Given the description of an element on the screen output the (x, y) to click on. 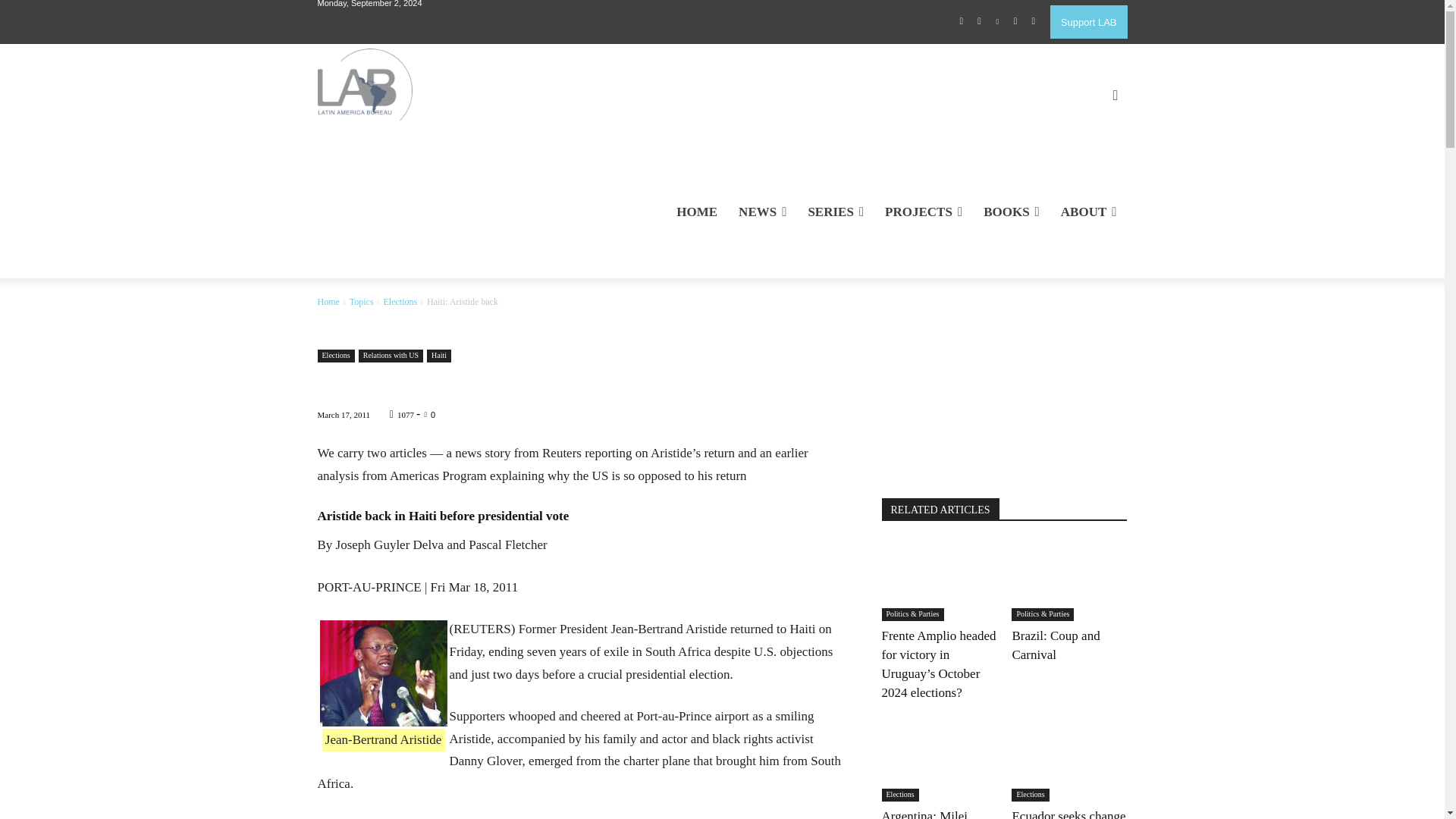
Twitter (1015, 22)
Instagram (979, 22)
Support LAB (1087, 21)
Linkedin (997, 22)
Facebook (961, 22)
Youtube (1033, 22)
